Given the description of an element on the screen output the (x, y) to click on. 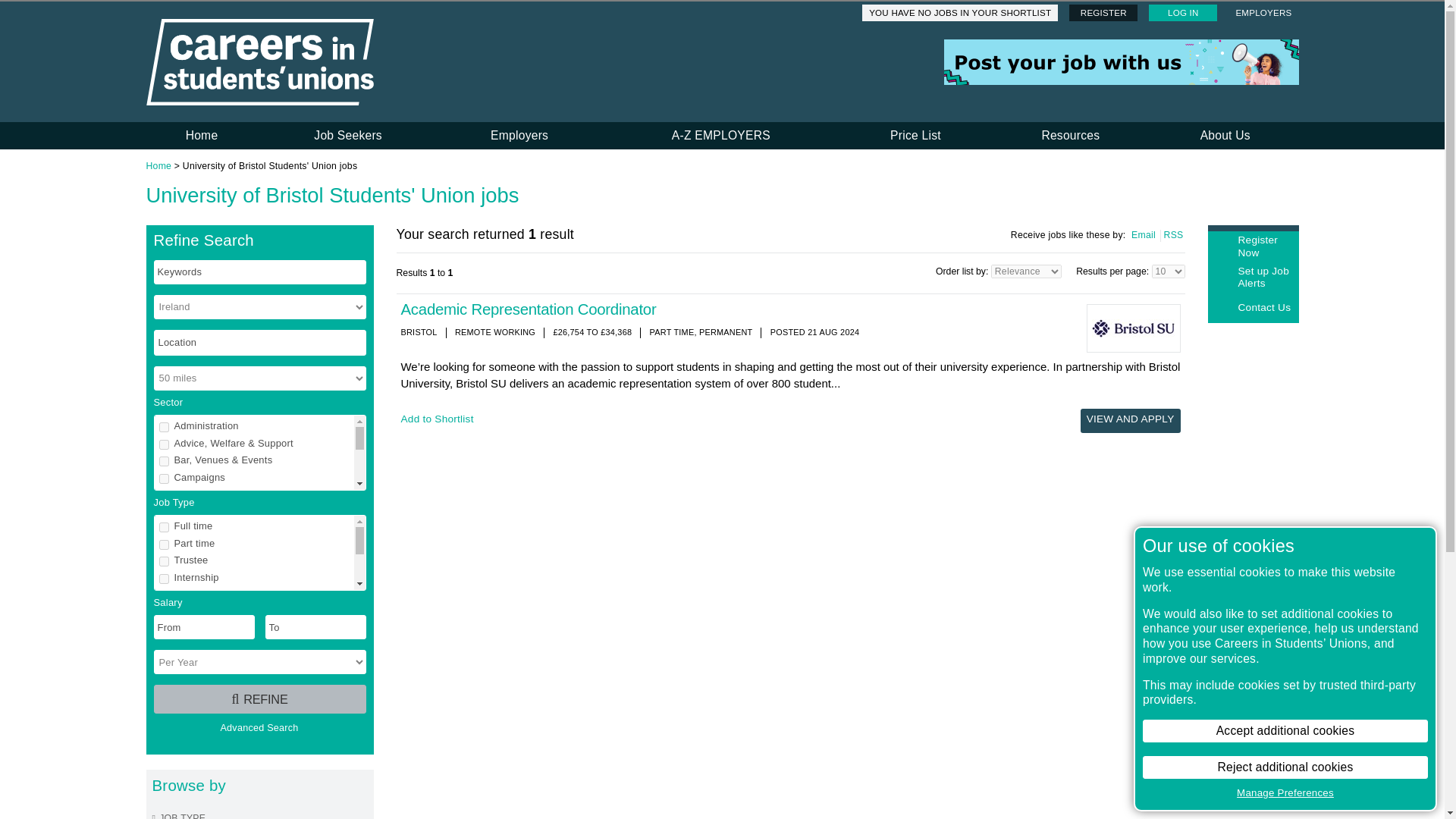
RSS (1172, 235)
31 (163, 444)
A-Z EMPLOYERS (720, 135)
Home (158, 165)
35 (163, 633)
REGISTER (1102, 12)
Academic Representation Coordinator (528, 309)
Email (1142, 235)
15 (163, 581)
Home (201, 135)
